Given the description of an element on the screen output the (x, y) to click on. 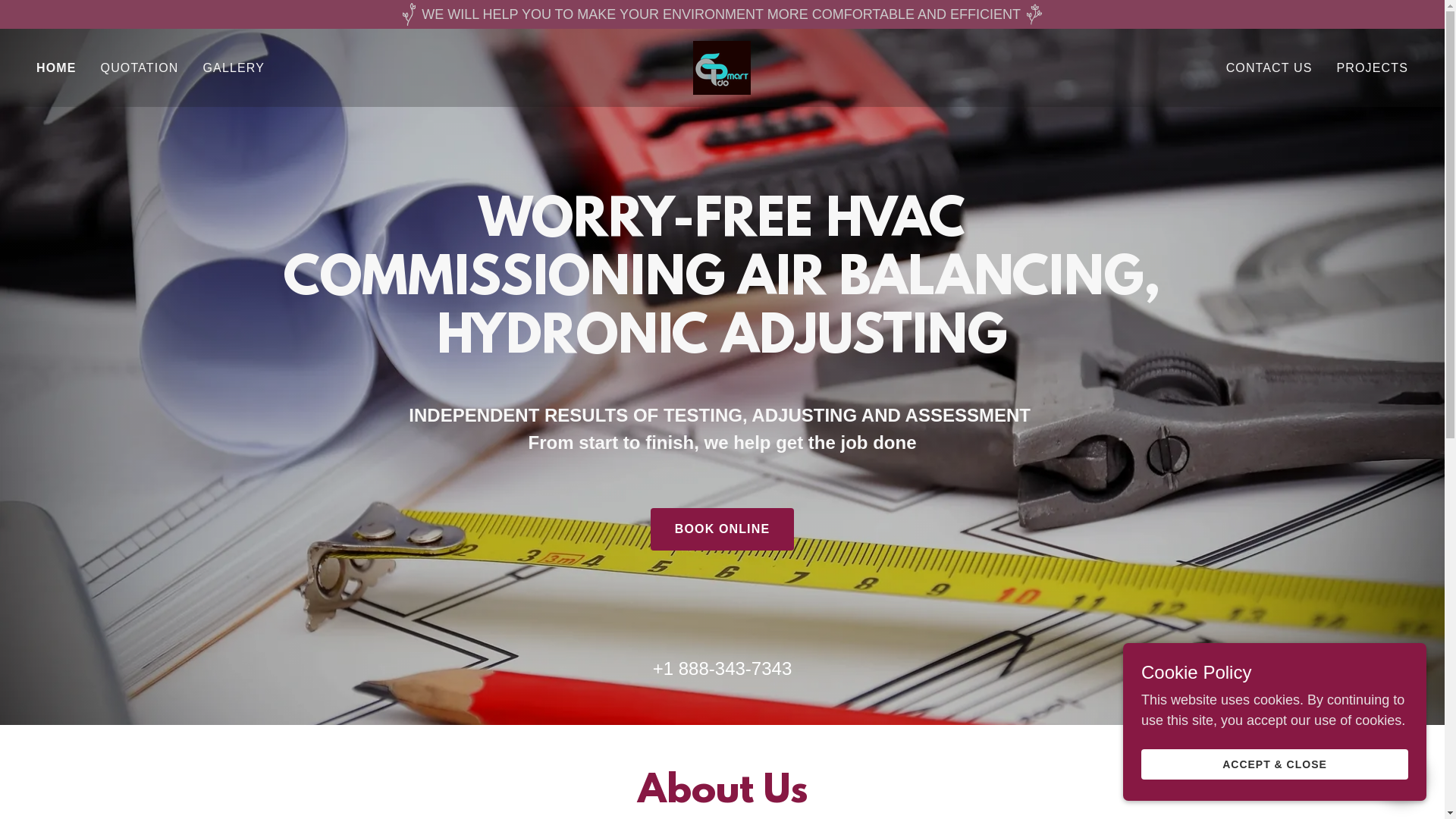
HOME Element type: text (56, 68)
Adosmart Element type: hover (721, 66)
1 888-343-7343 Element type: text (727, 668)
BOOK ONLINE Element type: text (721, 529)
ACCEPT & CLOSE Element type: text (1274, 764)
PROJECTS Element type: text (1372, 67)
CONTACT US Element type: text (1269, 67)
QUOTATION Element type: text (139, 67)
GALLERY Element type: text (233, 67)
